Given the description of an element on the screen output the (x, y) to click on. 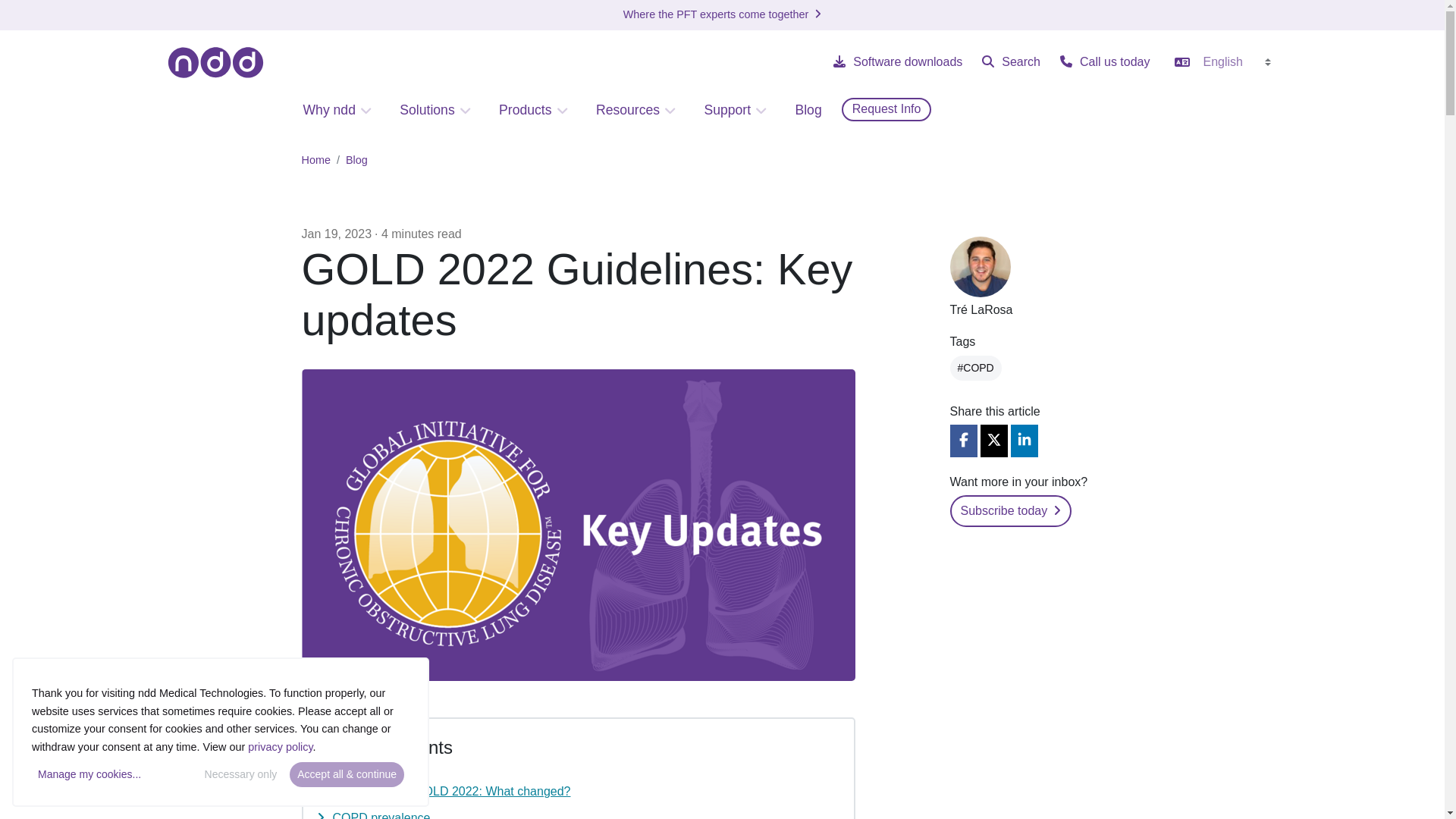
Subscribe today (1010, 511)
Why ndd (338, 111)
Call us today (1104, 61)
Where the PFT experts come together (722, 14)
Solutions (434, 111)
GOLD 2021 to GOLD 2022: What changed? (450, 790)
Search (1010, 61)
Products (533, 111)
Software downloads (896, 61)
COPD prevalence (380, 815)
